Given the description of an element on the screen output the (x, y) to click on. 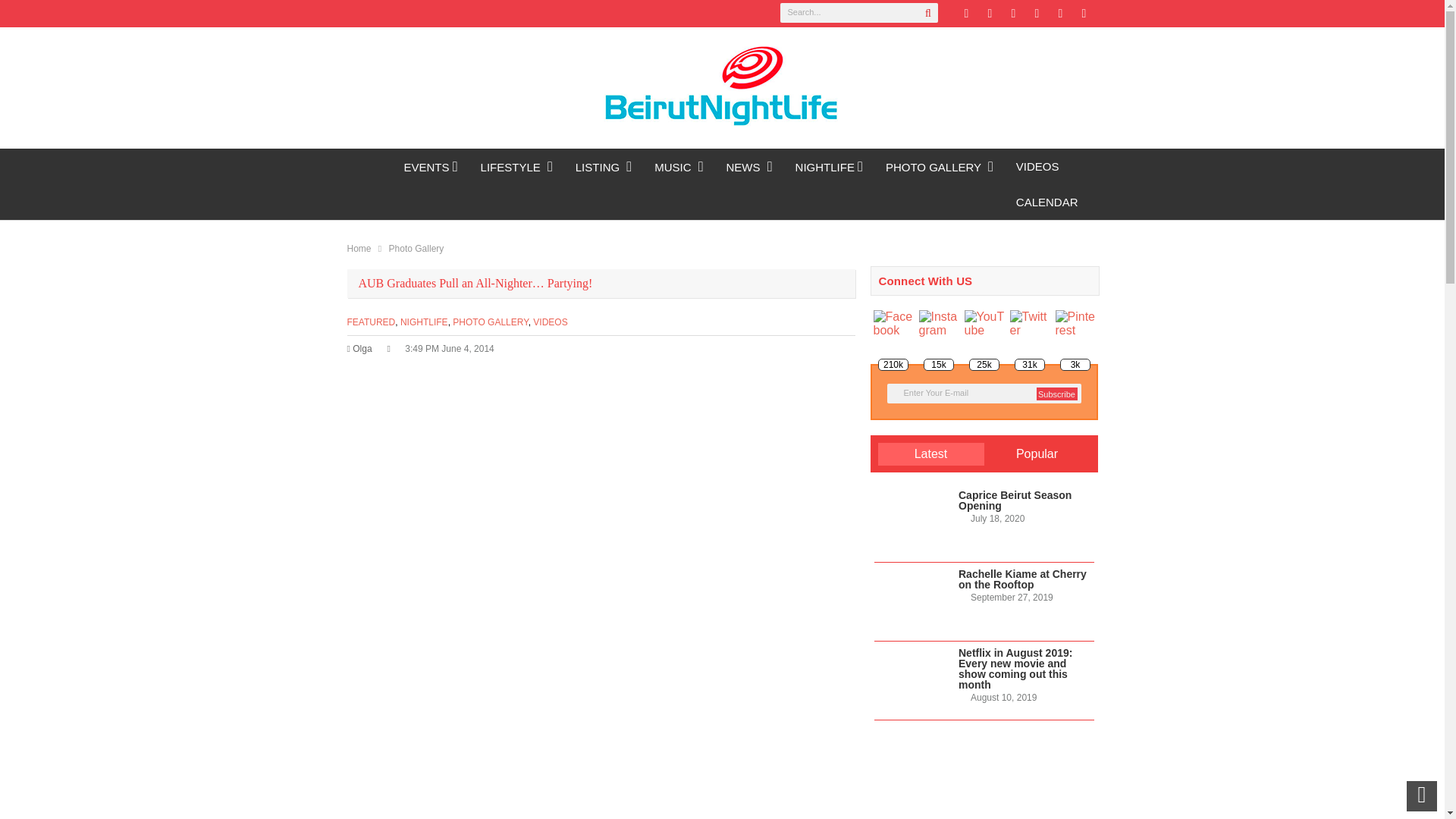
BEIRUTNIGHTLIFE :: BEIRUT THE ONLY WAY IT SHOULD BE (370, 166)
Pinterest (1013, 13)
Facebook (988, 13)
Instagram (1060, 13)
LIFESTYLE (516, 166)
Twitter (966, 13)
MUSIC (678, 166)
LISTING (603, 166)
Subscribe (1056, 393)
